Given the description of an element on the screen output the (x, y) to click on. 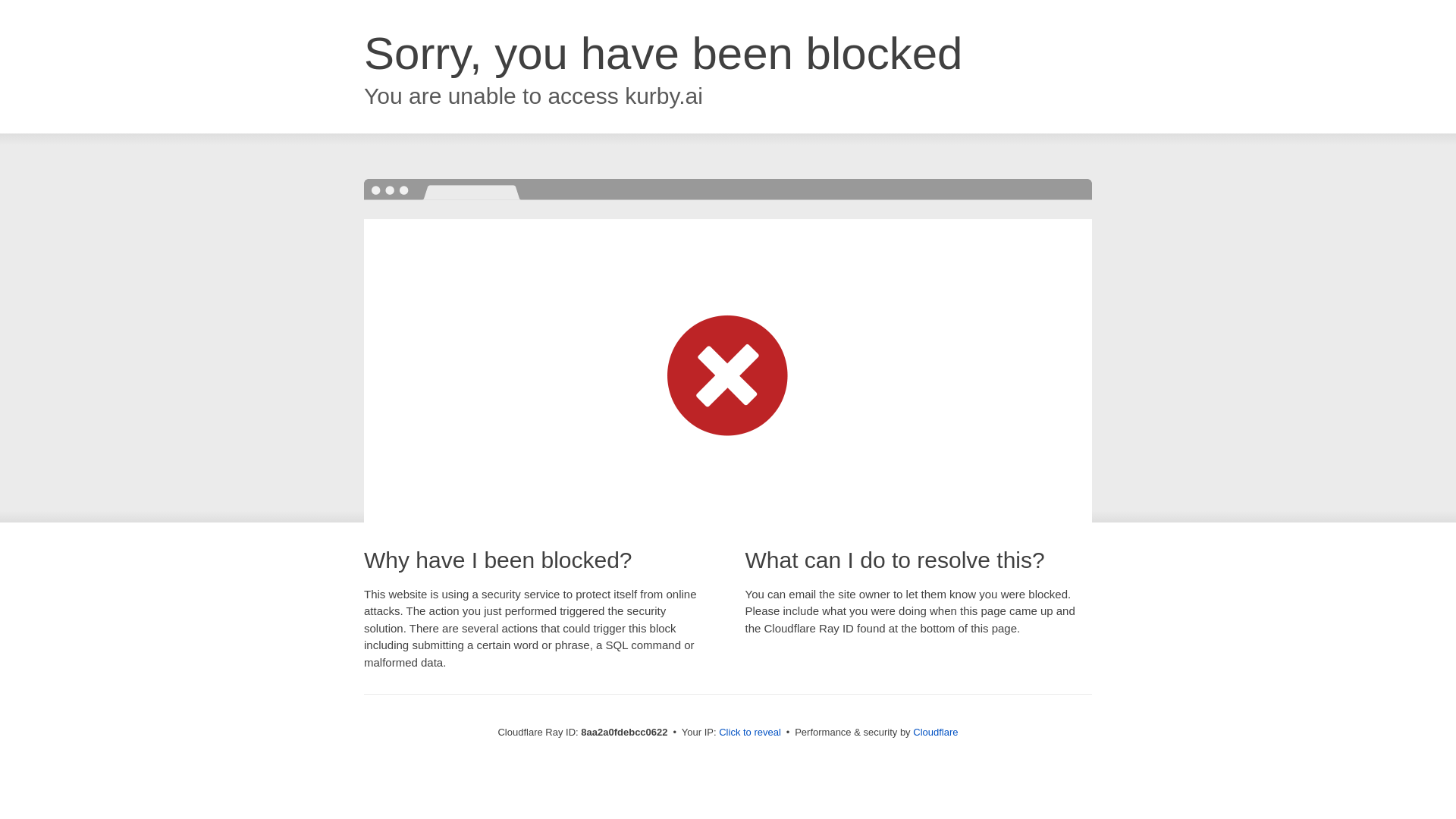
Click to reveal (749, 732)
Cloudflare (935, 731)
